Given the description of an element on the screen output the (x, y) to click on. 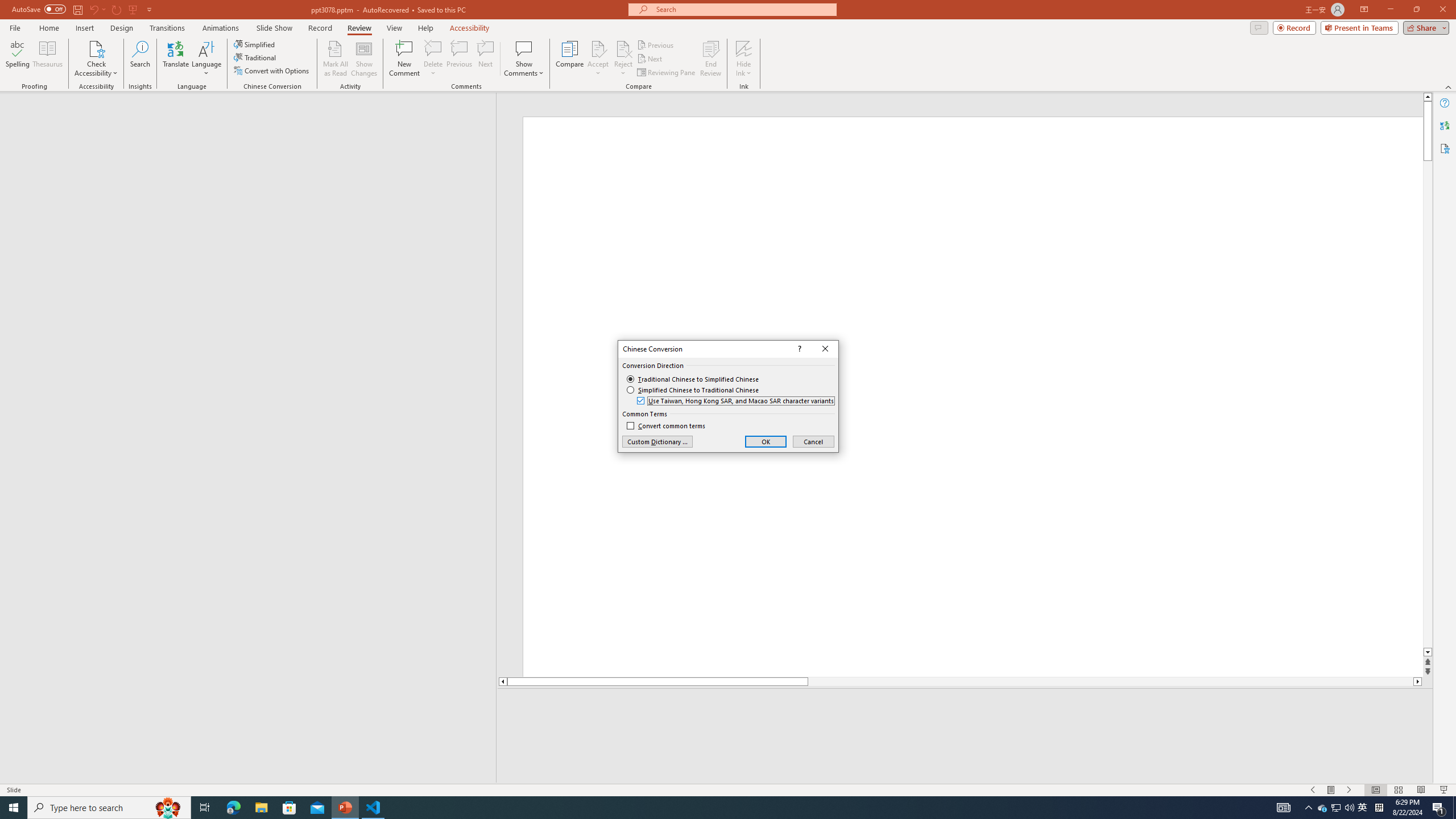
Accept Change (598, 48)
Microsoft Edge (233, 807)
Traditional (255, 56)
End Review (710, 58)
